Given the description of an element on the screen output the (x, y) to click on. 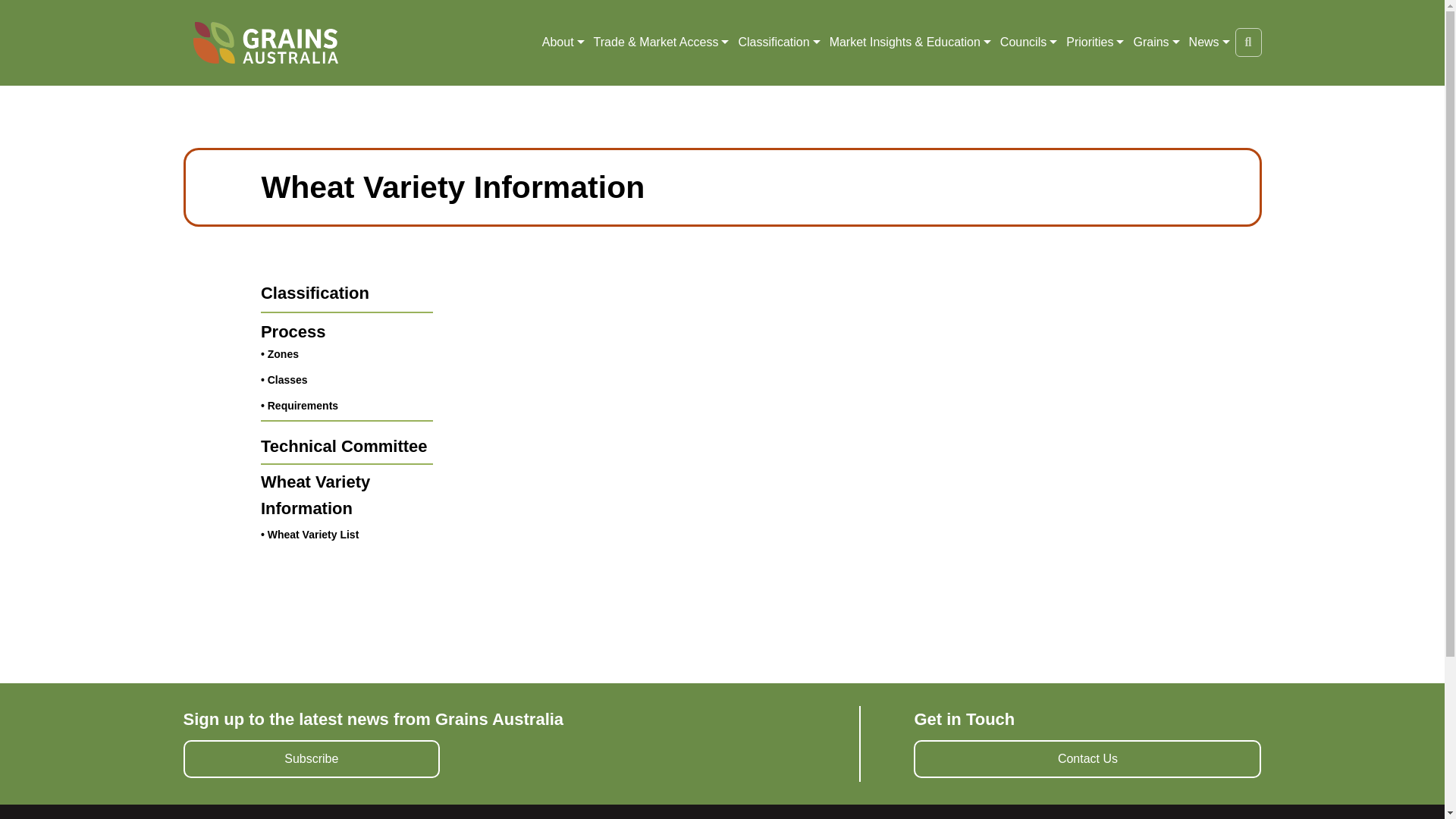
Priorities (1089, 42)
Grains (1150, 42)
Classification (773, 42)
About (557, 42)
Councils (1023, 42)
News (1204, 42)
